Given the description of an element on the screen output the (x, y) to click on. 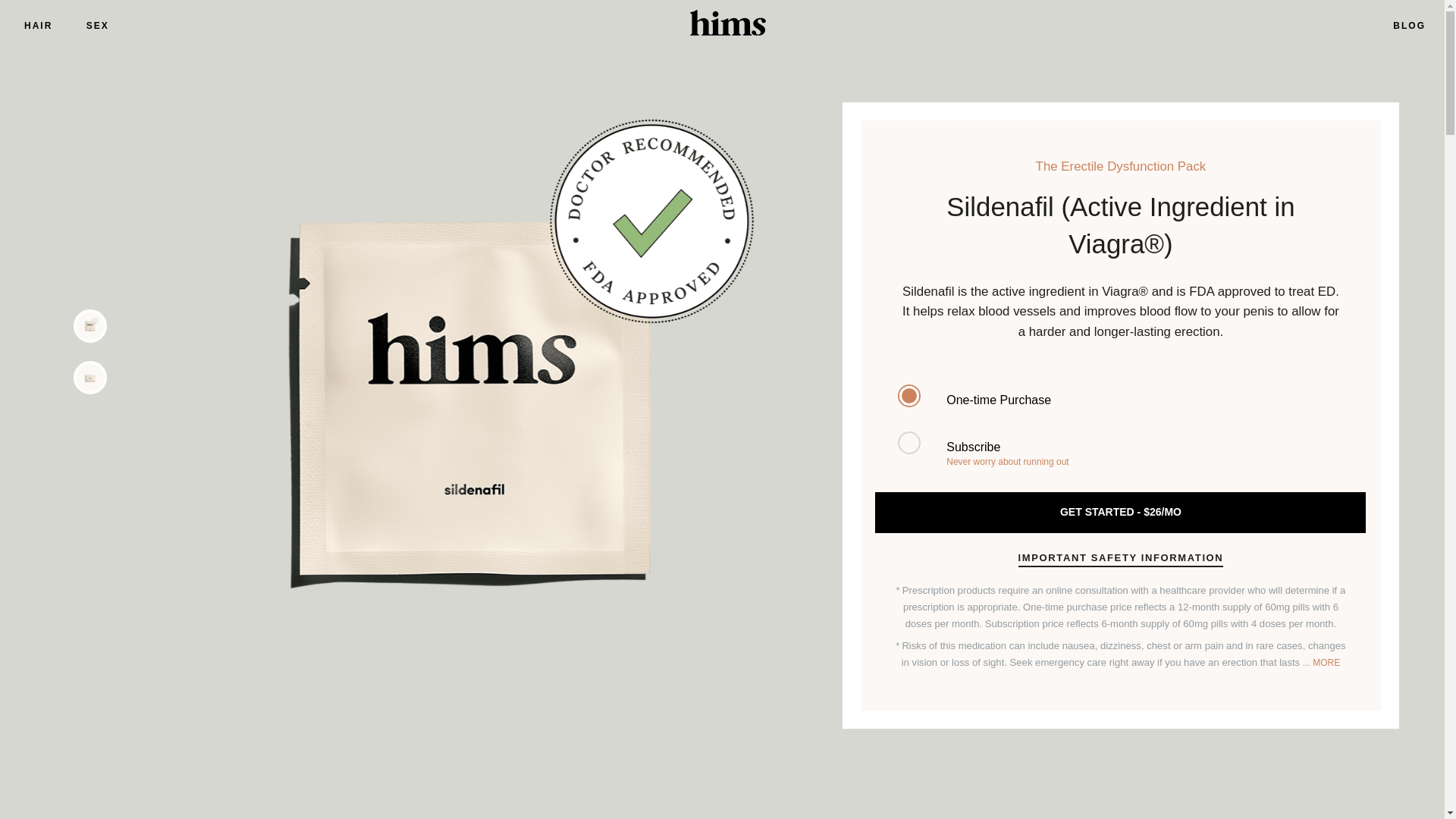
IMPORTANT SAFETY INFORMATION (1120, 559)
HAIR (1120, 450)
One-time Purchase (53, 24)
SEX (1120, 396)
